Given the description of an element on the screen output the (x, y) to click on. 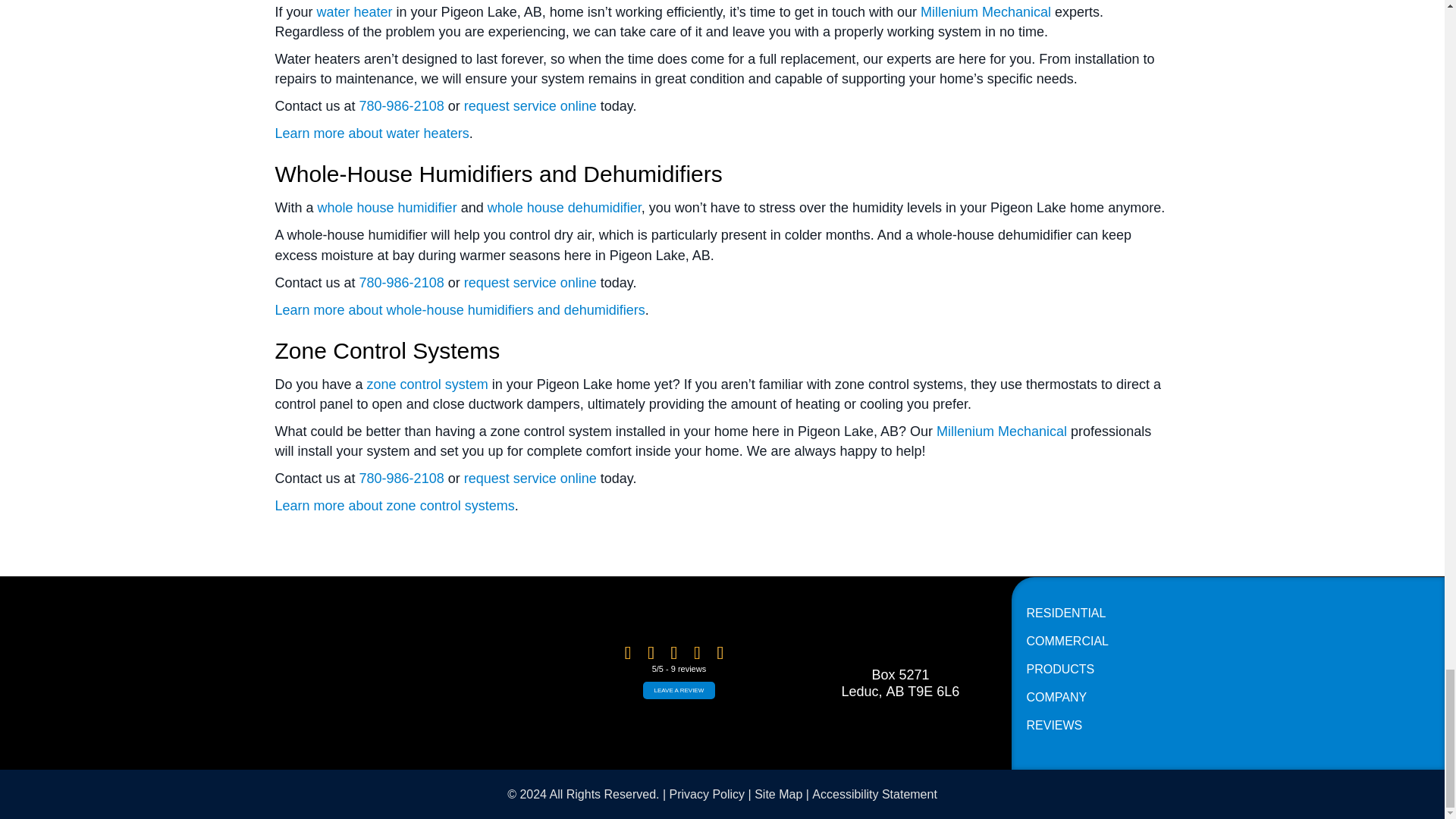
clean-logo (899, 630)
logo-white outline (420, 673)
